Given the description of an element on the screen output the (x, y) to click on. 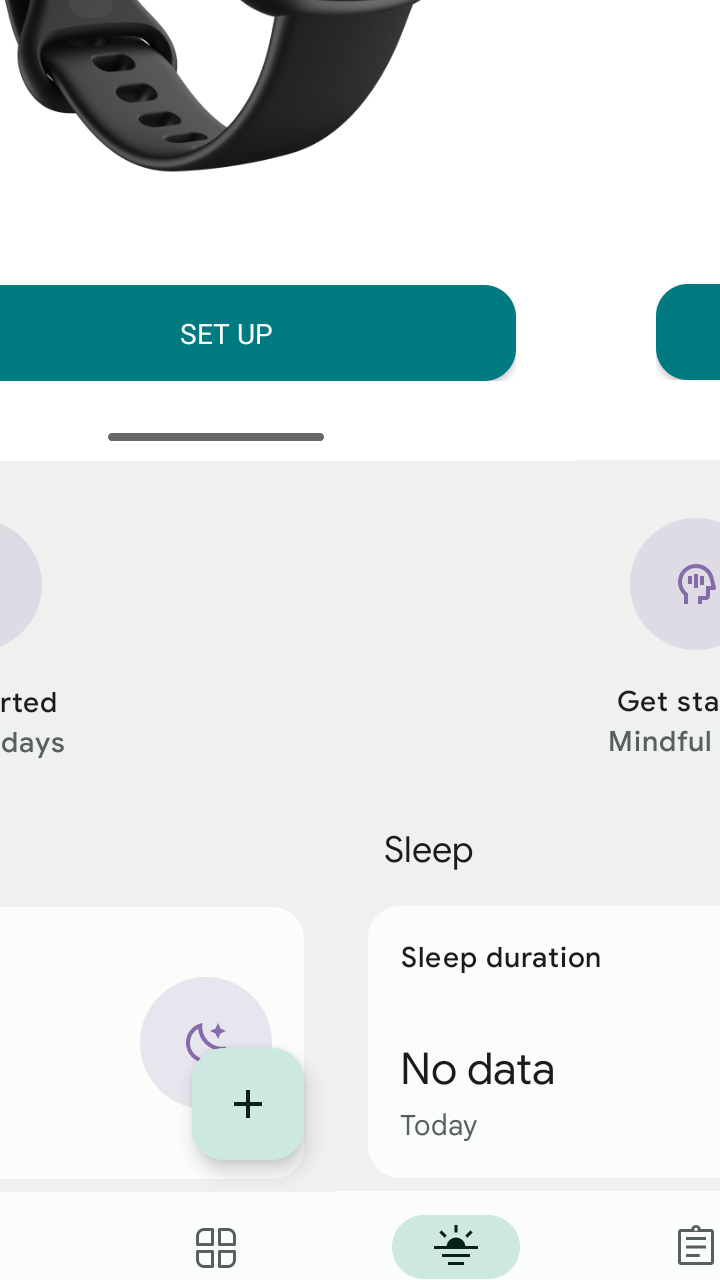
Your data in Fitbit (360, 854)
